Given the description of an element on the screen output the (x, y) to click on. 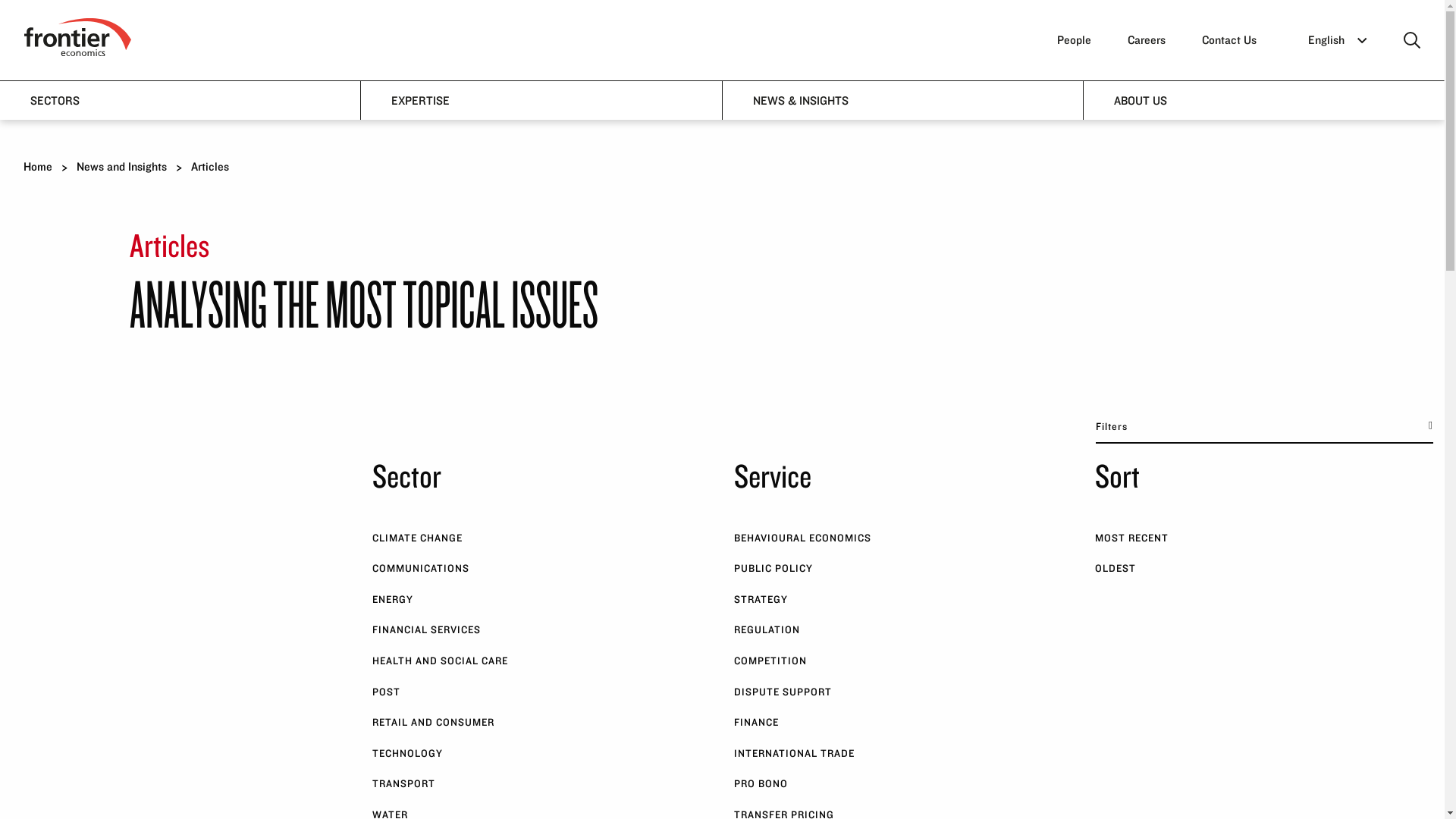
People (1073, 39)
EXPERTISE (541, 99)
Careers (1146, 39)
Contact Us (1229, 39)
SECTORS (180, 99)
